Given the description of an element on the screen output the (x, y) to click on. 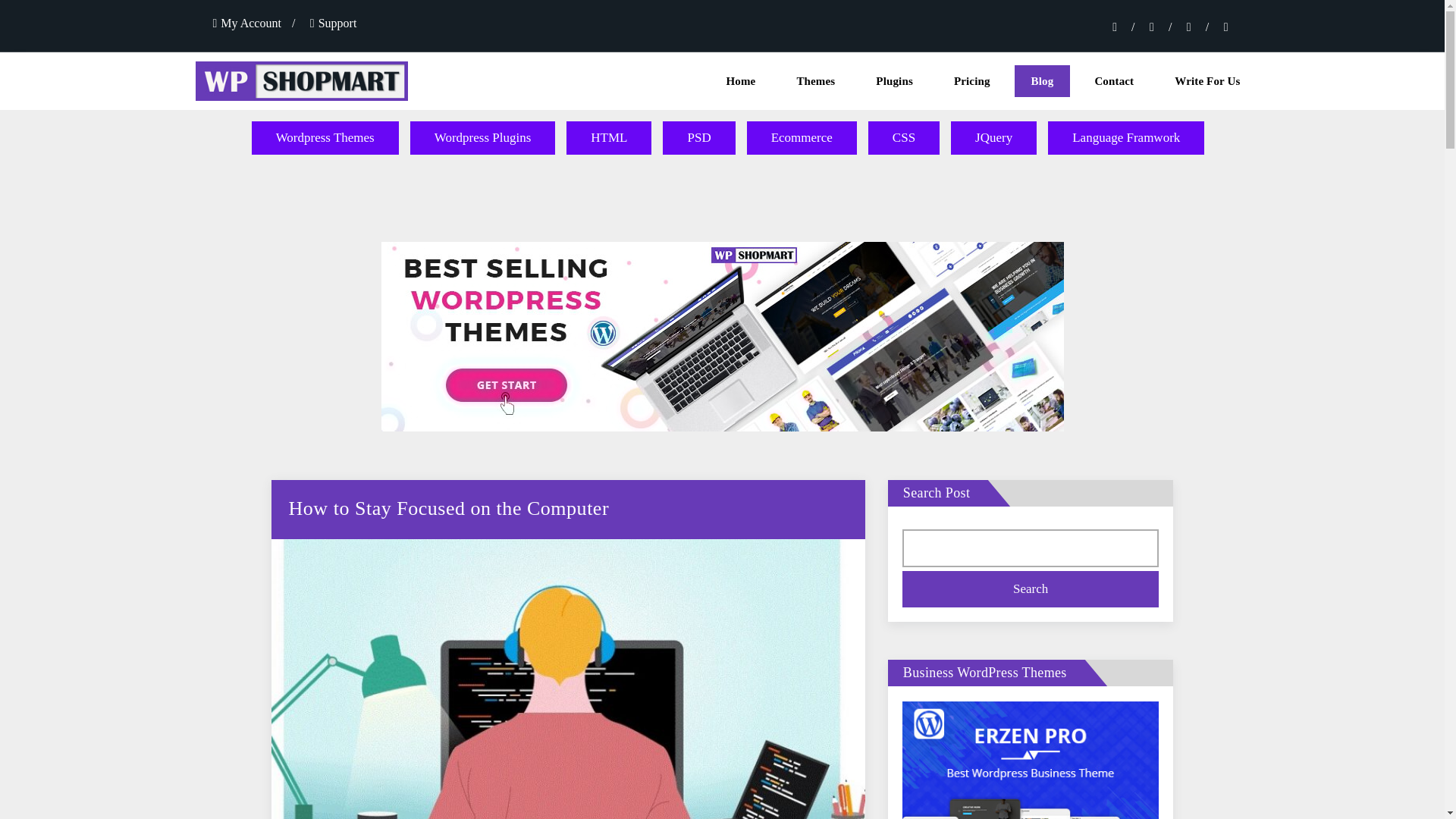
Write For Us (1206, 81)
Get support (333, 22)
erzen-pro (1030, 791)
Home (740, 81)
Blog (1042, 81)
member login (246, 22)
Themes (814, 81)
Search (1030, 588)
Pricing (972, 81)
Wordpress Themes (324, 137)
